Given the description of an element on the screen output the (x, y) to click on. 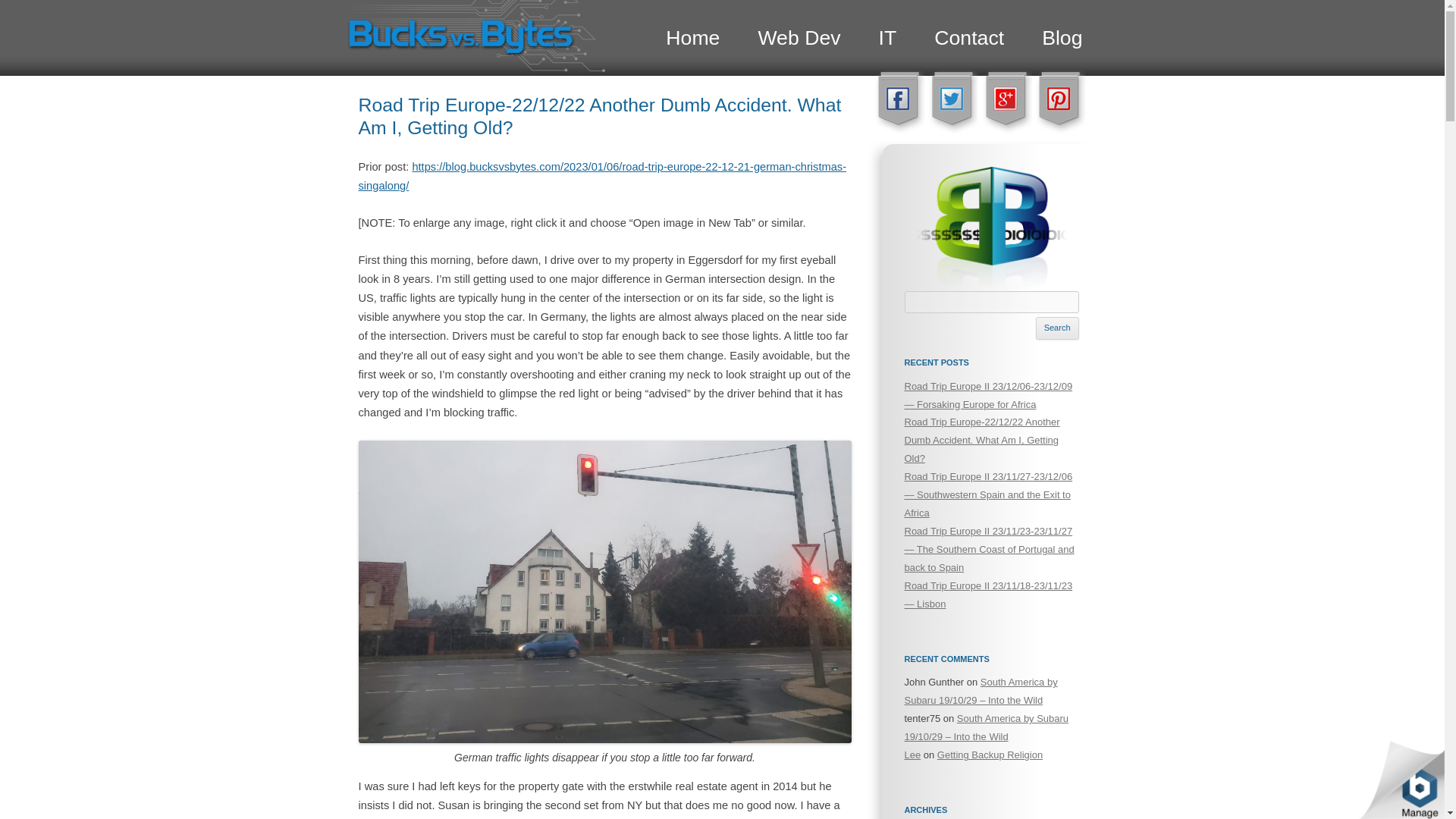
Blog (1061, 37)
Search (1056, 327)
Search (1056, 327)
Web Dev (798, 37)
Contact (969, 37)
Home (692, 37)
Getting Backup Religion (989, 754)
Lee (912, 754)
